Given the description of an element on the screen output the (x, y) to click on. 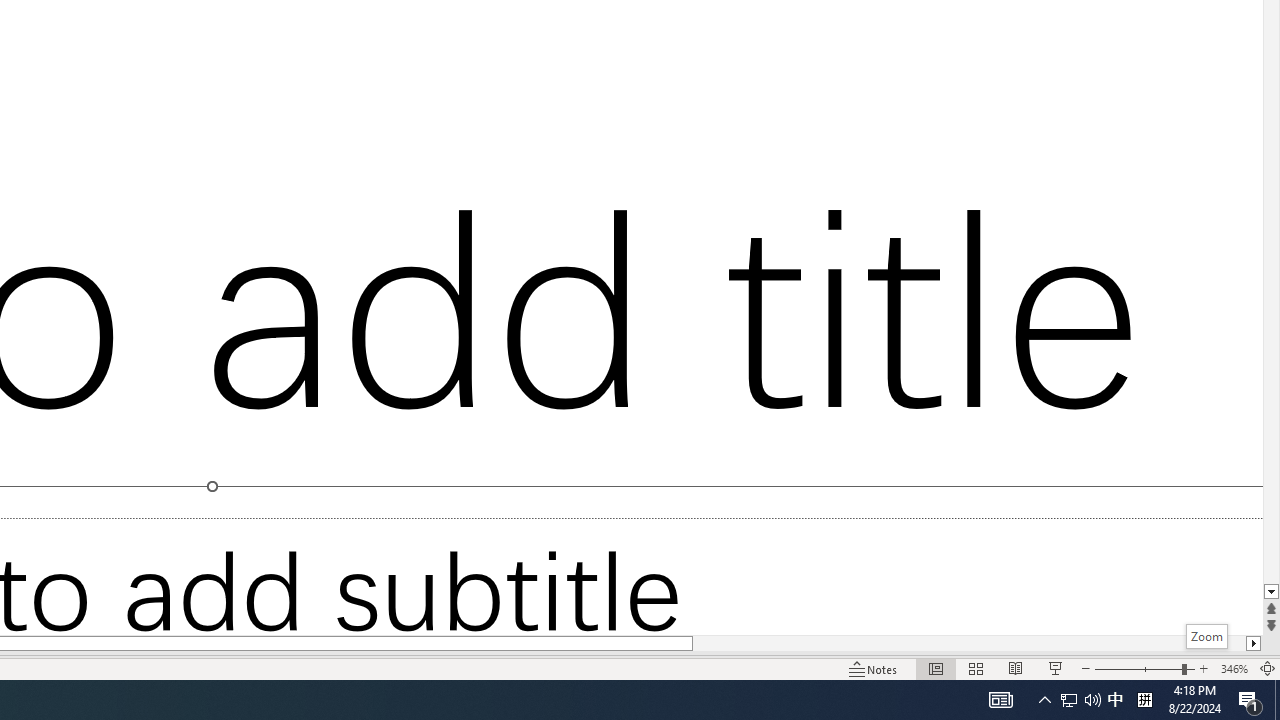
Zoom 346% (1234, 668)
